Given the description of an element on the screen output the (x, y) to click on. 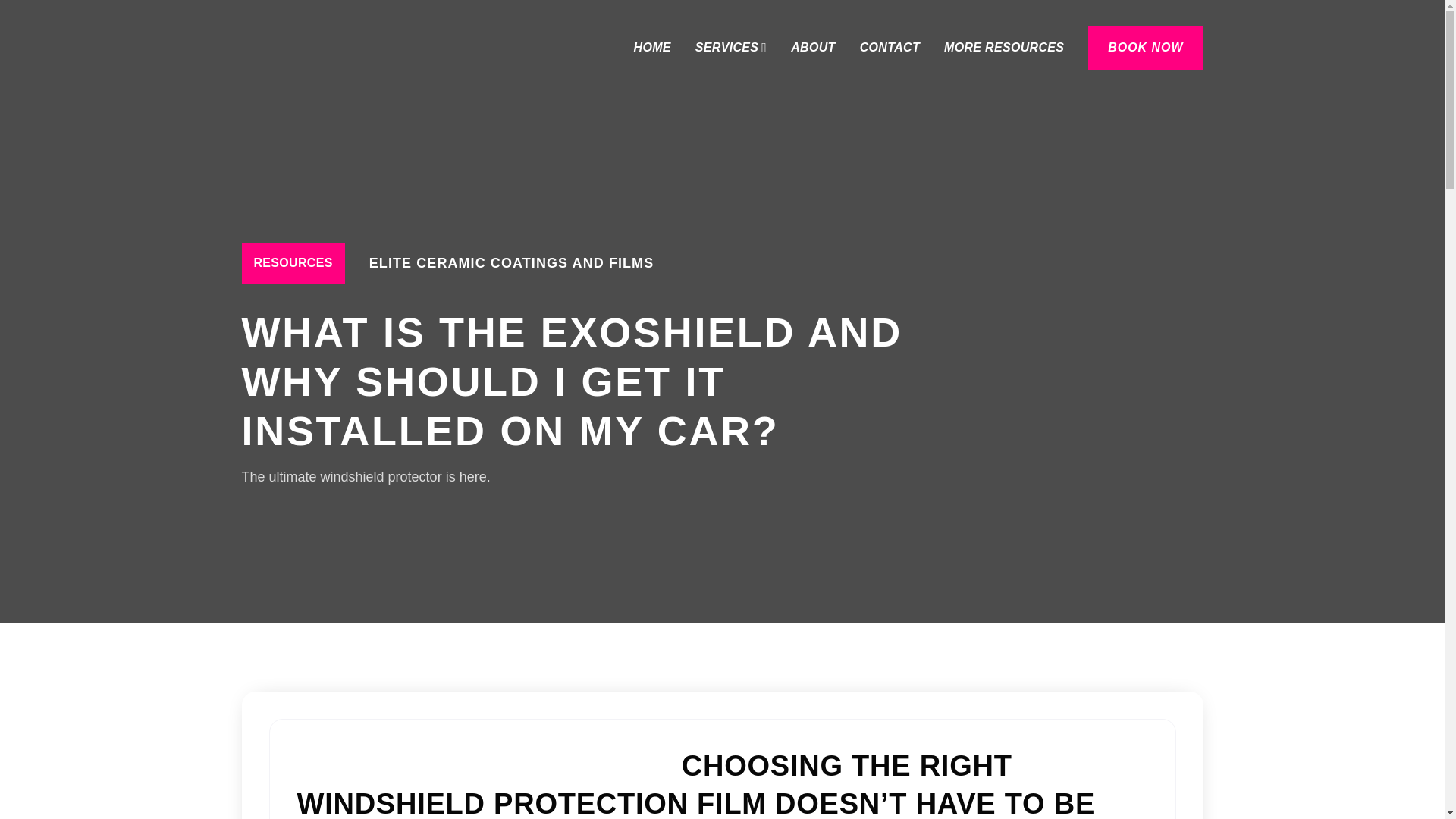
ABOUT (812, 47)
MORE RESOURCES (1003, 47)
HOME (652, 47)
CONTACT (890, 47)
RESOURCES (292, 262)
BOOK NOW (1144, 47)
